Given the description of an element on the screen output the (x, y) to click on. 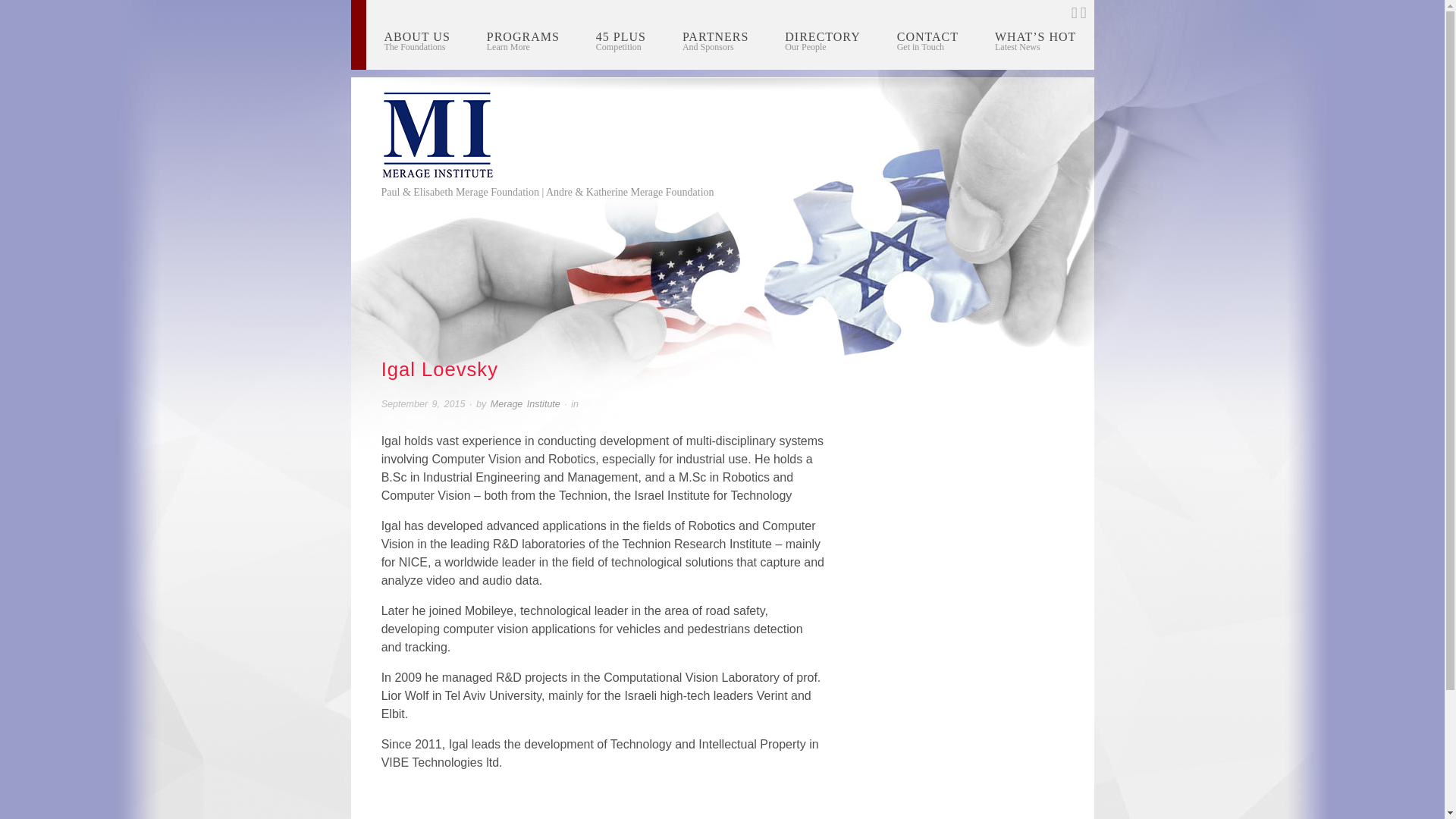
Merage Institute (525, 403)
Merage Institute (822, 41)
Merage Institute (715, 41)
Wednesday, September 9th, 2015, 12:02 am (416, 41)
